Given the description of an element on the screen output the (x, y) to click on. 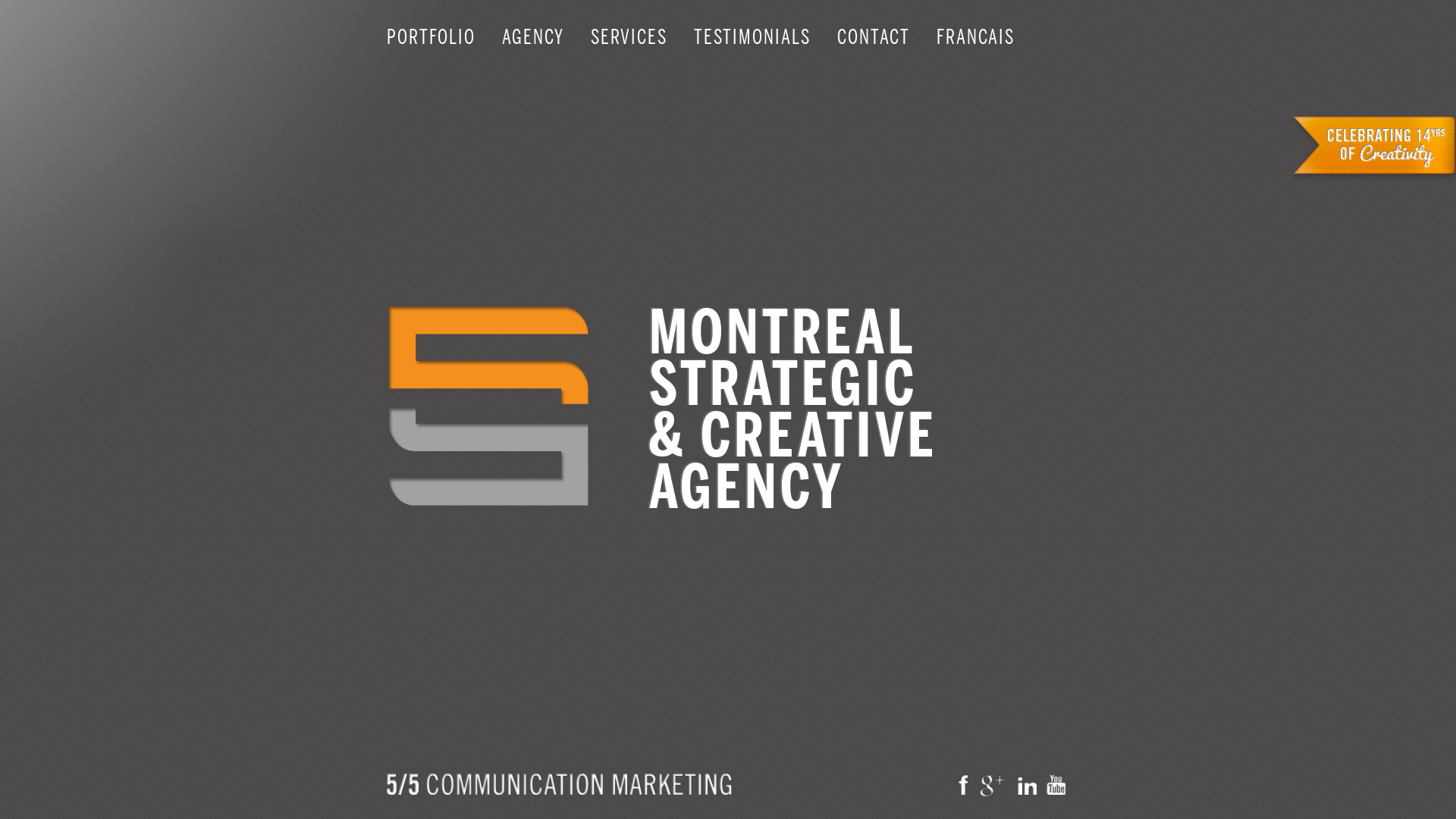
PORTFOLIO Element type: text (430, 36)
AGENCY Element type: text (533, 36)
CONTACT Element type: text (873, 36)
SERVICES Element type: text (628, 36)
TESTIMONIALS Element type: text (751, 36)
FRANCAIS Element type: text (975, 36)
